Given the description of an element on the screen output the (x, y) to click on. 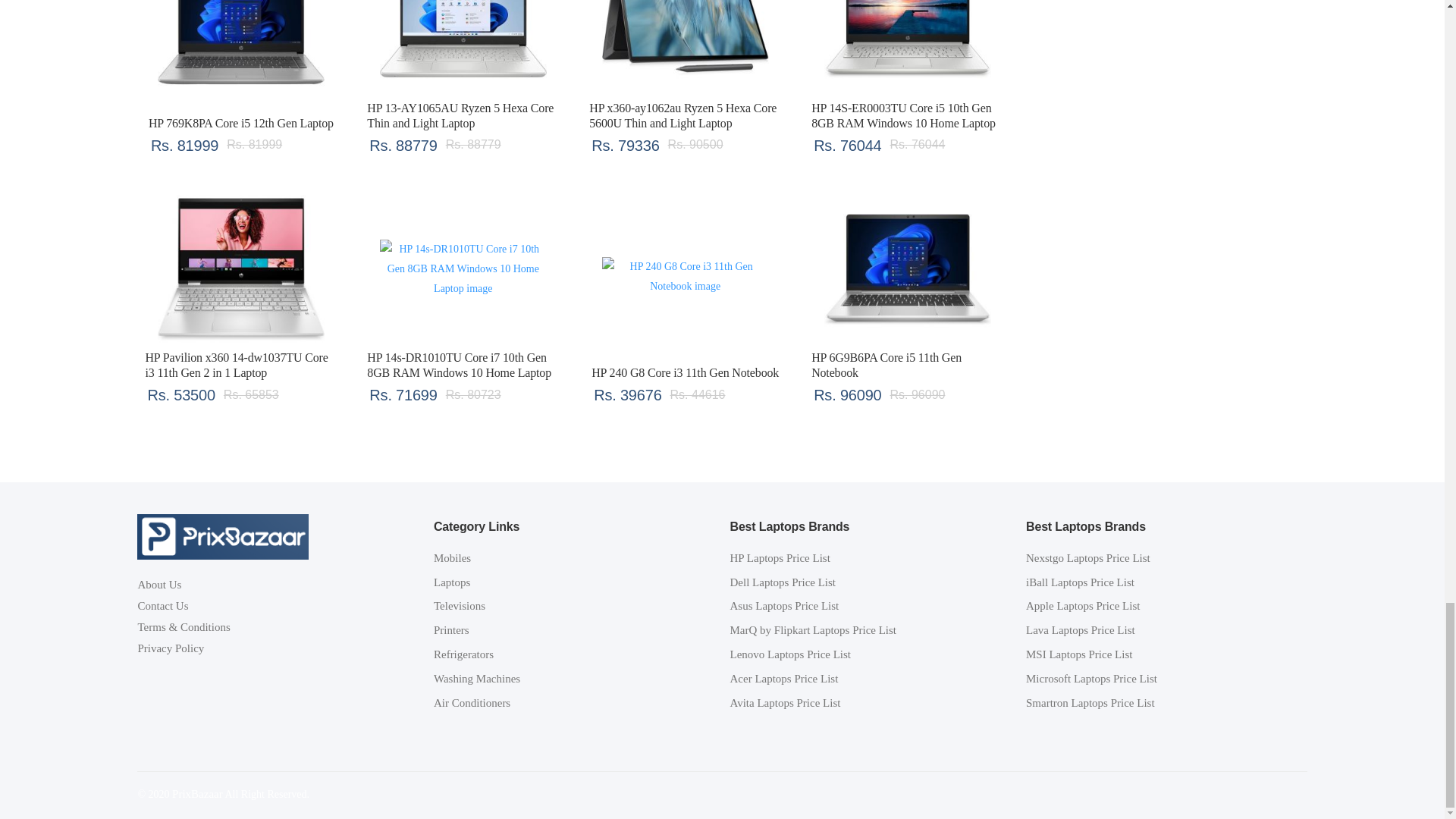
HP 6G9B6PA Core i5 11th Gen  Notebook (907, 268)
HP 13-AY1065AU Ryzen 5 Hexa Core Thin and Light Laptop (459, 115)
HP Pavilion x360 14-dw1037TU Core i3 11th Gen  2 in 1 Laptop (240, 268)
HP 6G9B6PA Core i5 11th Gen Notebook (885, 365)
HP 769K8PA Core i5 12th Gen  Laptop (240, 50)
